Given the description of an element on the screen output the (x, y) to click on. 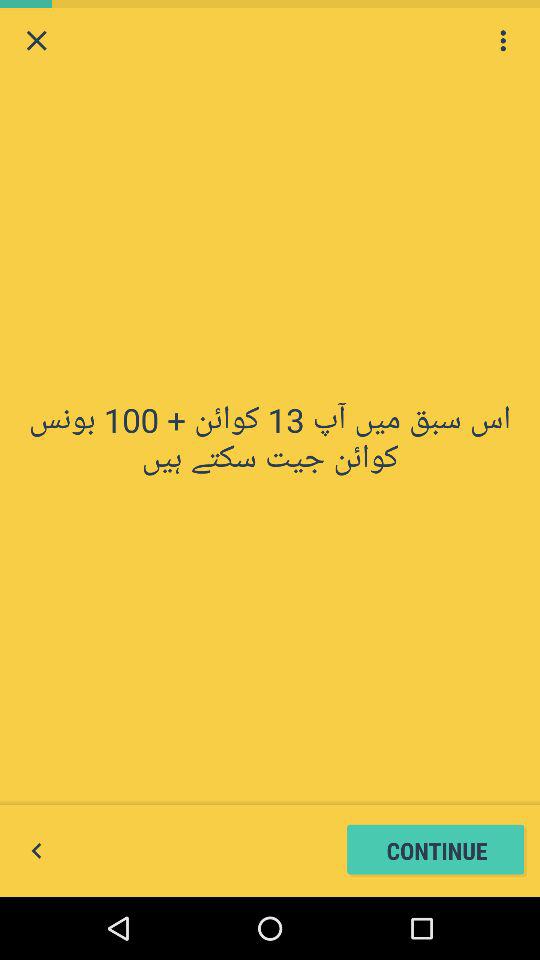
close screen (36, 40)
